Given the description of an element on the screen output the (x, y) to click on. 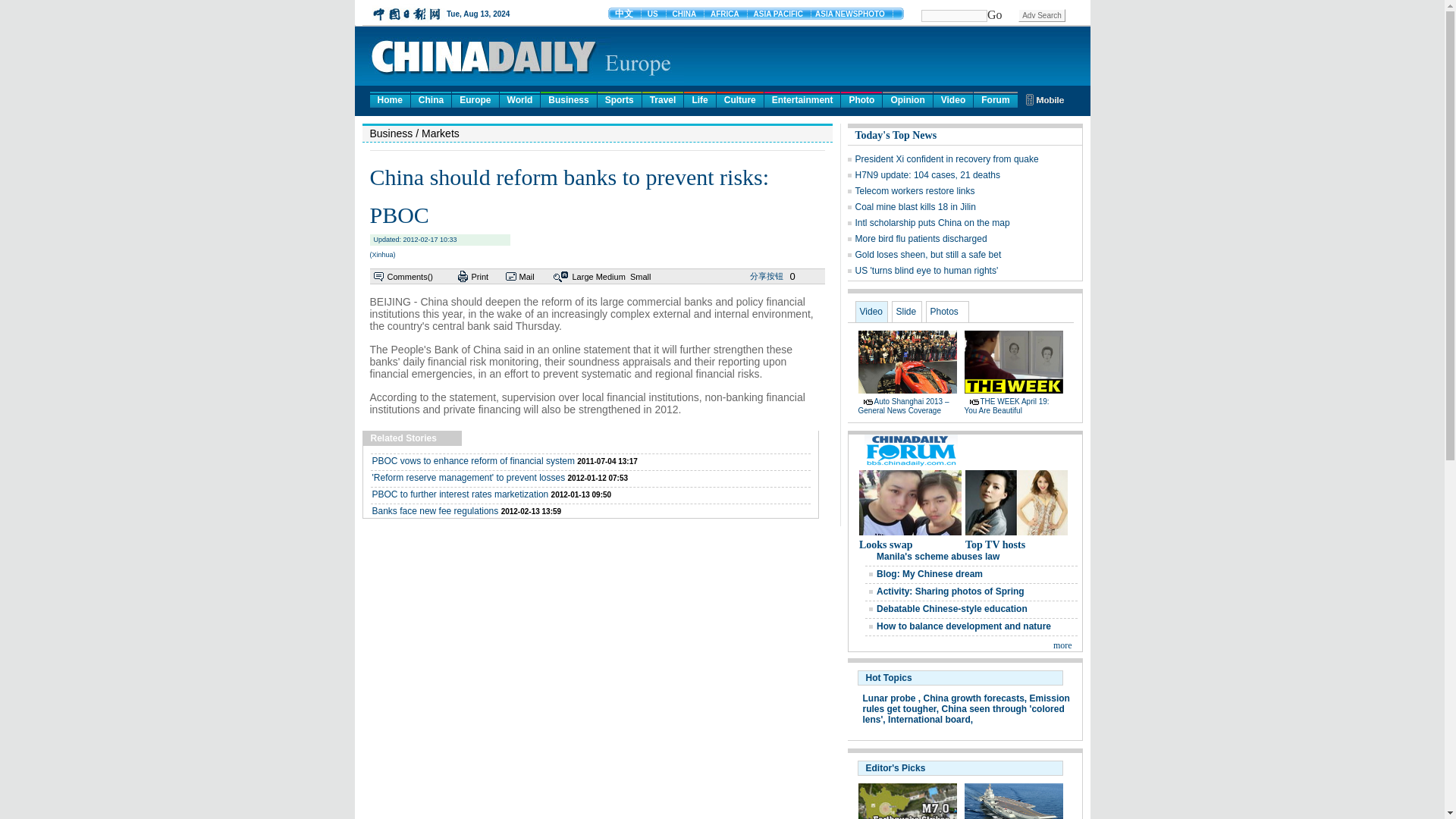
Home (389, 99)
Business (567, 99)
China (430, 99)
Life (699, 99)
Europe (474, 99)
Travel (663, 99)
World (519, 99)
Sports (619, 99)
